Given the description of an element on the screen output the (x, y) to click on. 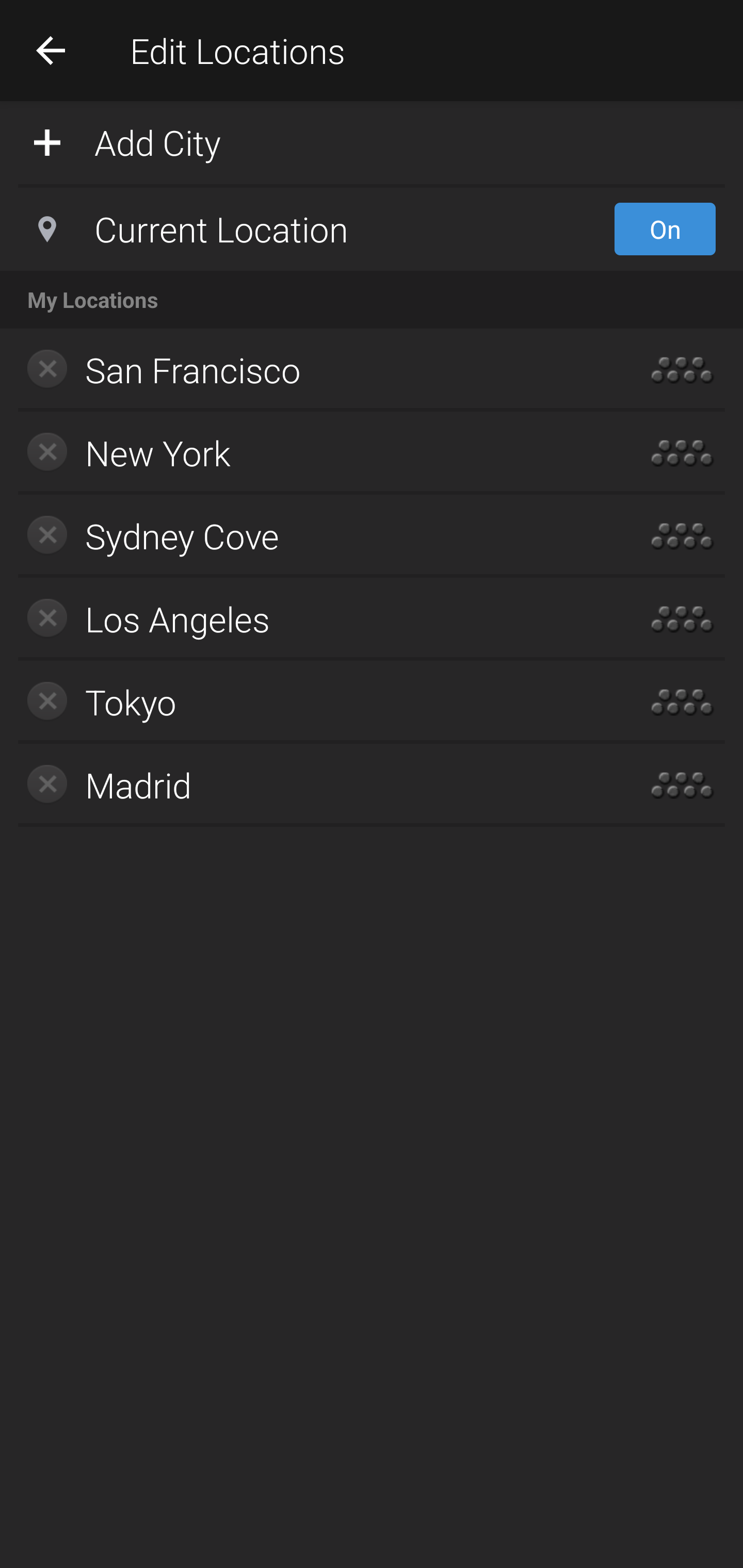
Navigate up (50, 50)
Add City (371, 141)
Current Location: On Current Location On (371, 229)
Delete: San Francisco San Francisco (311, 369)
Delete: New York New York (311, 452)
Delete: Sydney Cove Sydney Cove (311, 535)
Delete: Los Angeles Los Angeles (311, 618)
Delete: Tokyo Tokyo (311, 701)
Delete: Madrid Madrid (311, 784)
